Given the description of an element on the screen output the (x, y) to click on. 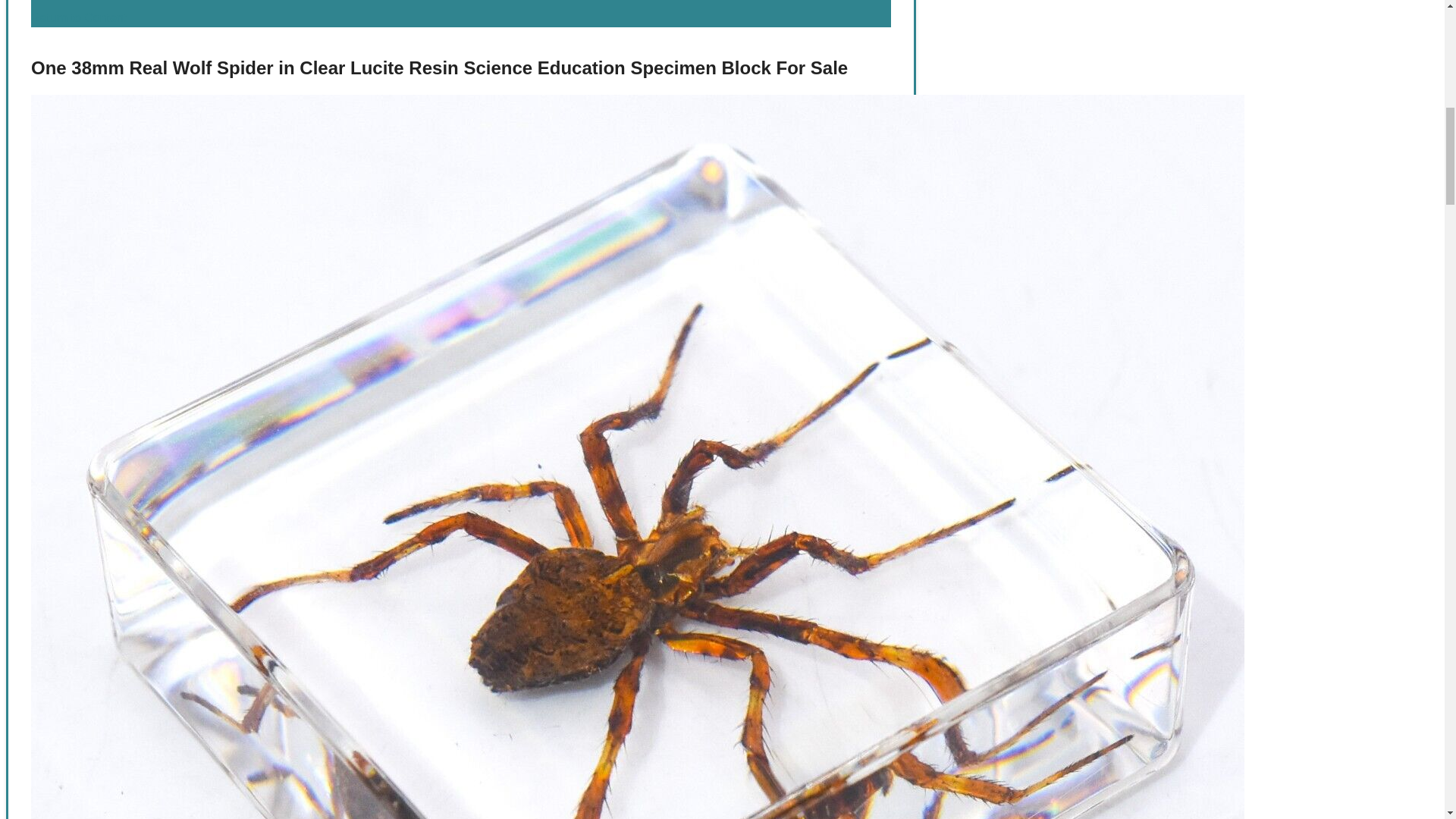
Return to Content (78, 17)
